Given the description of an element on the screen output the (x, y) to click on. 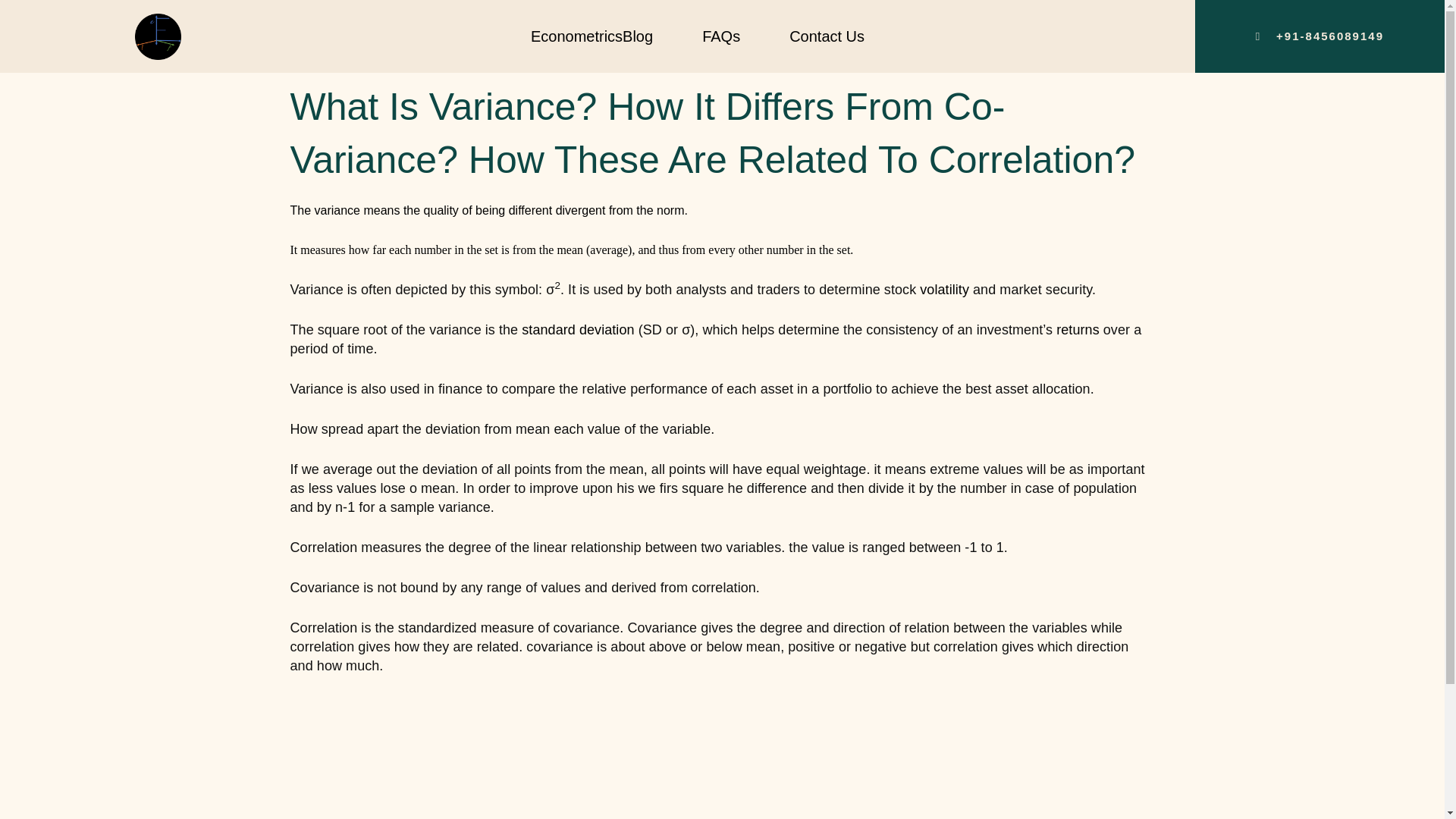
FAQs (720, 36)
EconometricsBlog (591, 36)
Contact Us (826, 36)
